Given the description of an element on the screen output the (x, y) to click on. 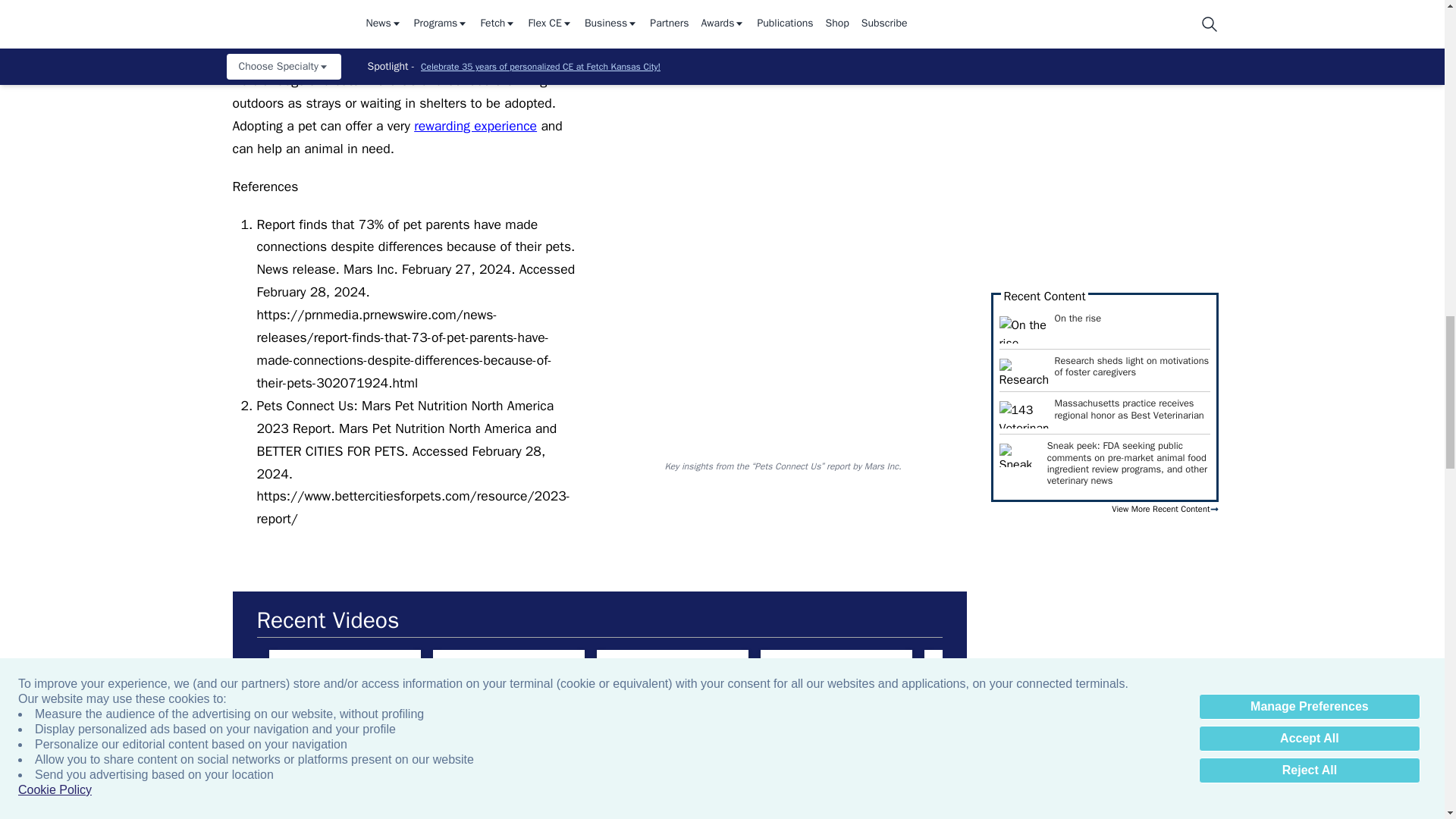
Biking with the chief veterinary officer at Nationwide (343, 692)
The future of data-driven veterinary care (507, 692)
Customized pet insurance, FDA approvals, and more (671, 692)
